Given the description of an element on the screen output the (x, y) to click on. 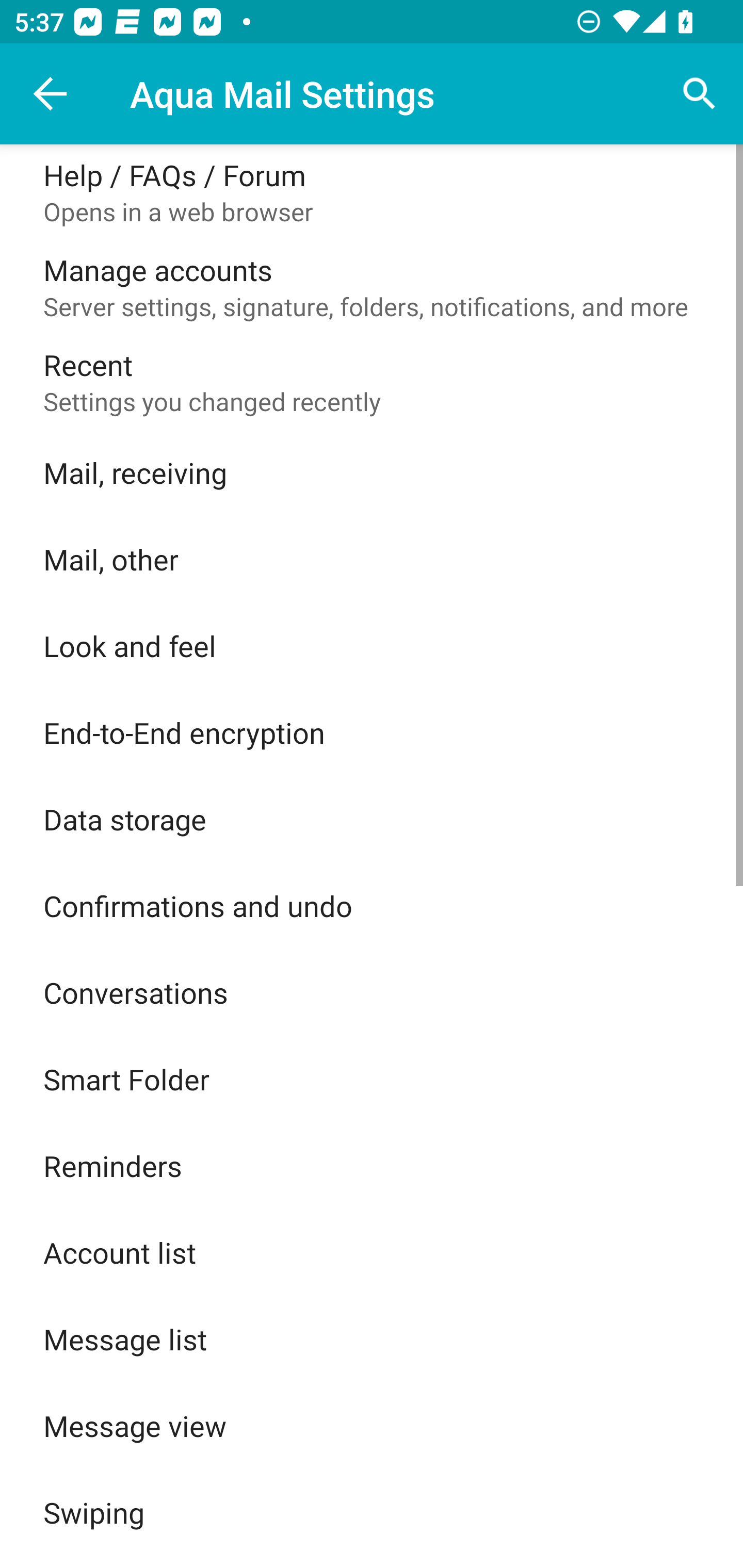
Navigate up (50, 93)
Search (699, 93)
Help / FAQs / Forum Opens in a web browser (371, 191)
Recent Settings you changed recently (371, 381)
Mail, receiving (371, 472)
Mail, other (371, 558)
Look and feel (371, 645)
End-to-End encryption (371, 732)
Data storage (371, 819)
Confirmations and undo (371, 905)
Conversations (371, 992)
Smart Folder (371, 1079)
Reminders (371, 1165)
Account list (371, 1251)
Message list (371, 1338)
Message view (371, 1425)
Swiping (371, 1512)
